Given the description of an element on the screen output the (x, y) to click on. 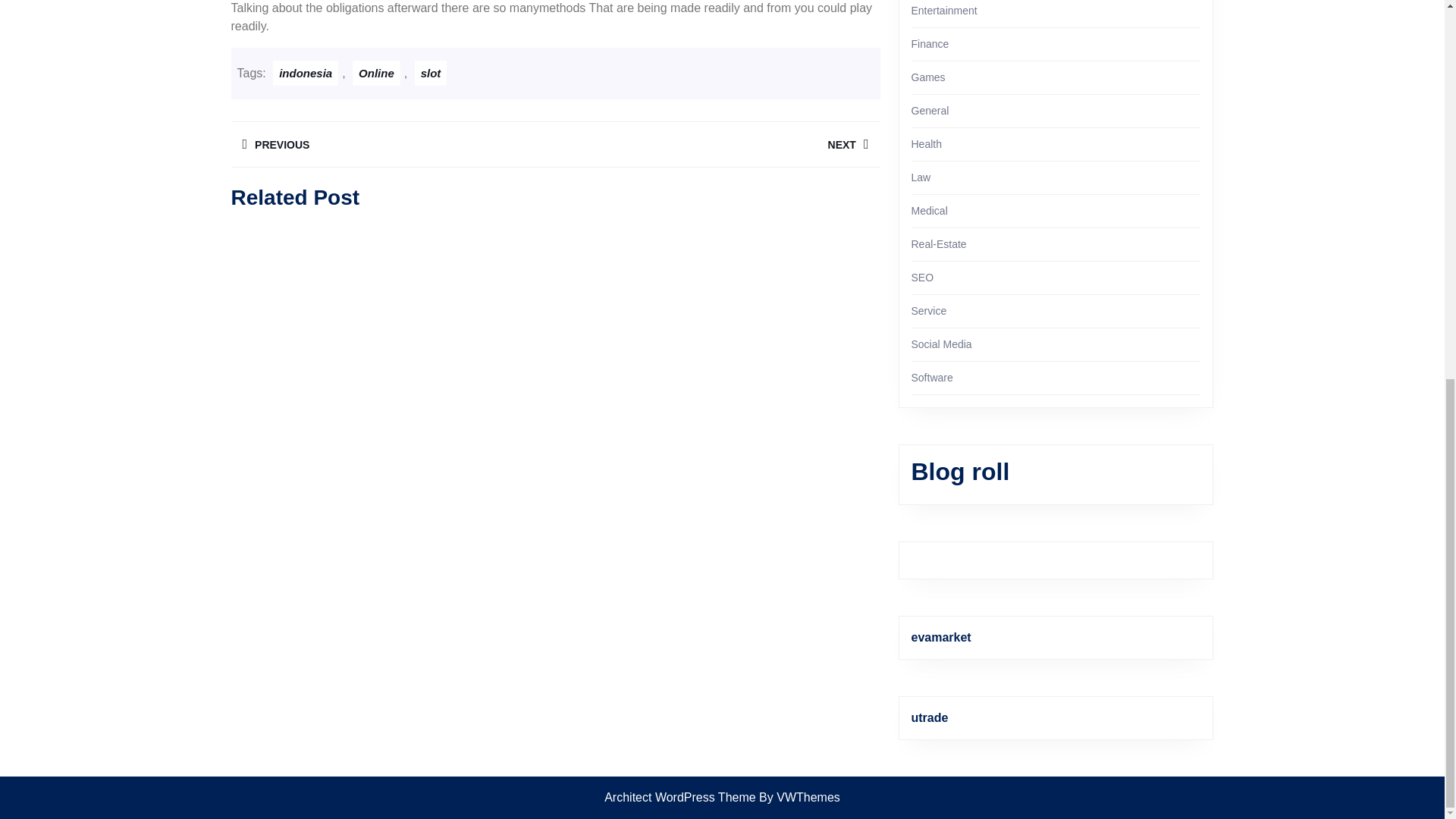
indonesia (716, 144)
General (305, 72)
Online (930, 110)
Health (376, 72)
Law (926, 143)
Entertainment (921, 177)
slot (392, 144)
Finance (943, 10)
